Given the description of an element on the screen output the (x, y) to click on. 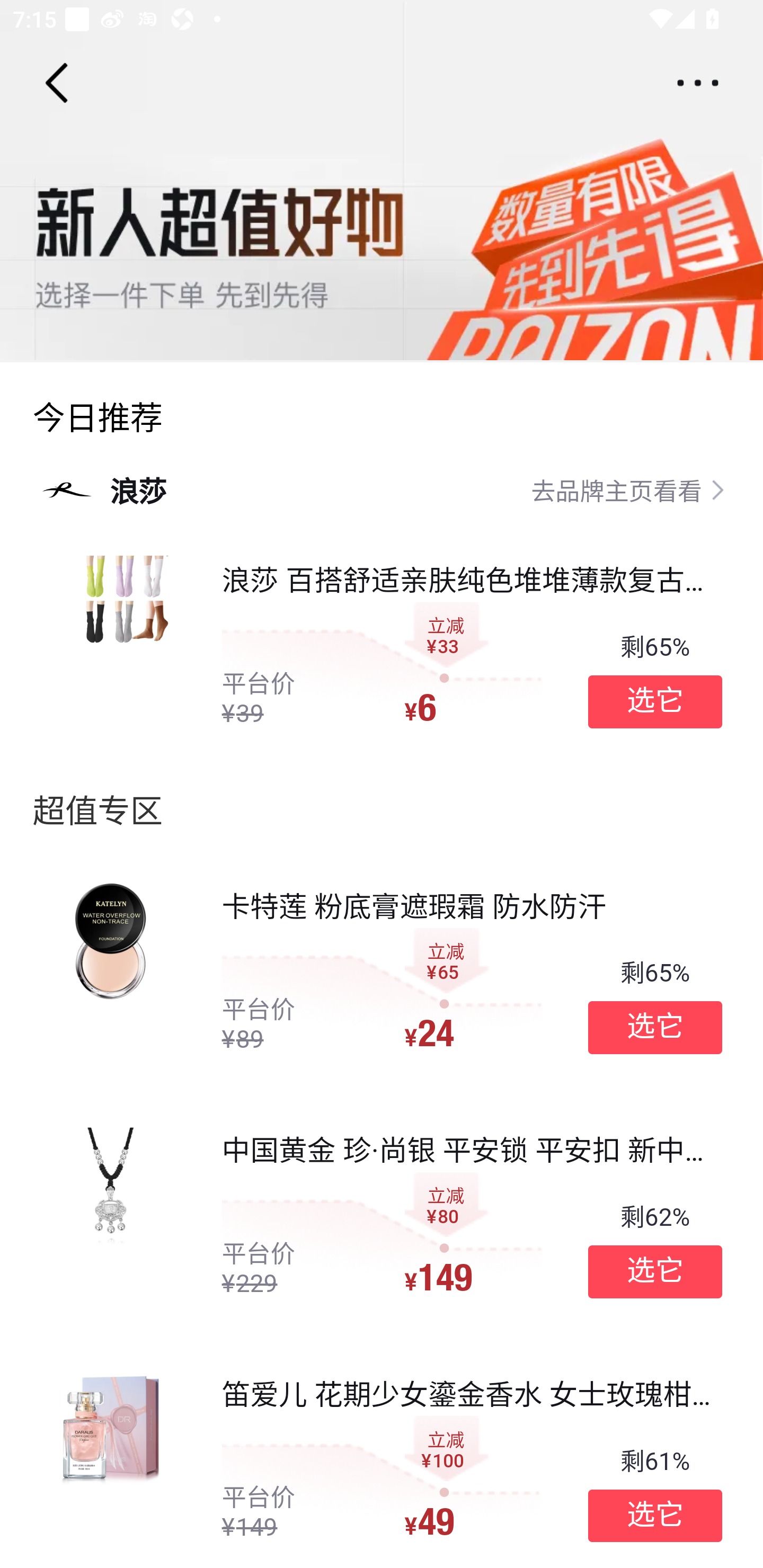
浪莎去品牌主页看看 (381, 489)
选它 (654, 701)
卡特莲 粉底膏遮瑕霜 防水防汗 平台价 ¥ 89 立减¥65 ¥ 24 剩65% 选它 (381, 971)
选它 (654, 1027)
选它 (654, 1271)
选它 (654, 1515)
